Given the description of an element on the screen output the (x, y) to click on. 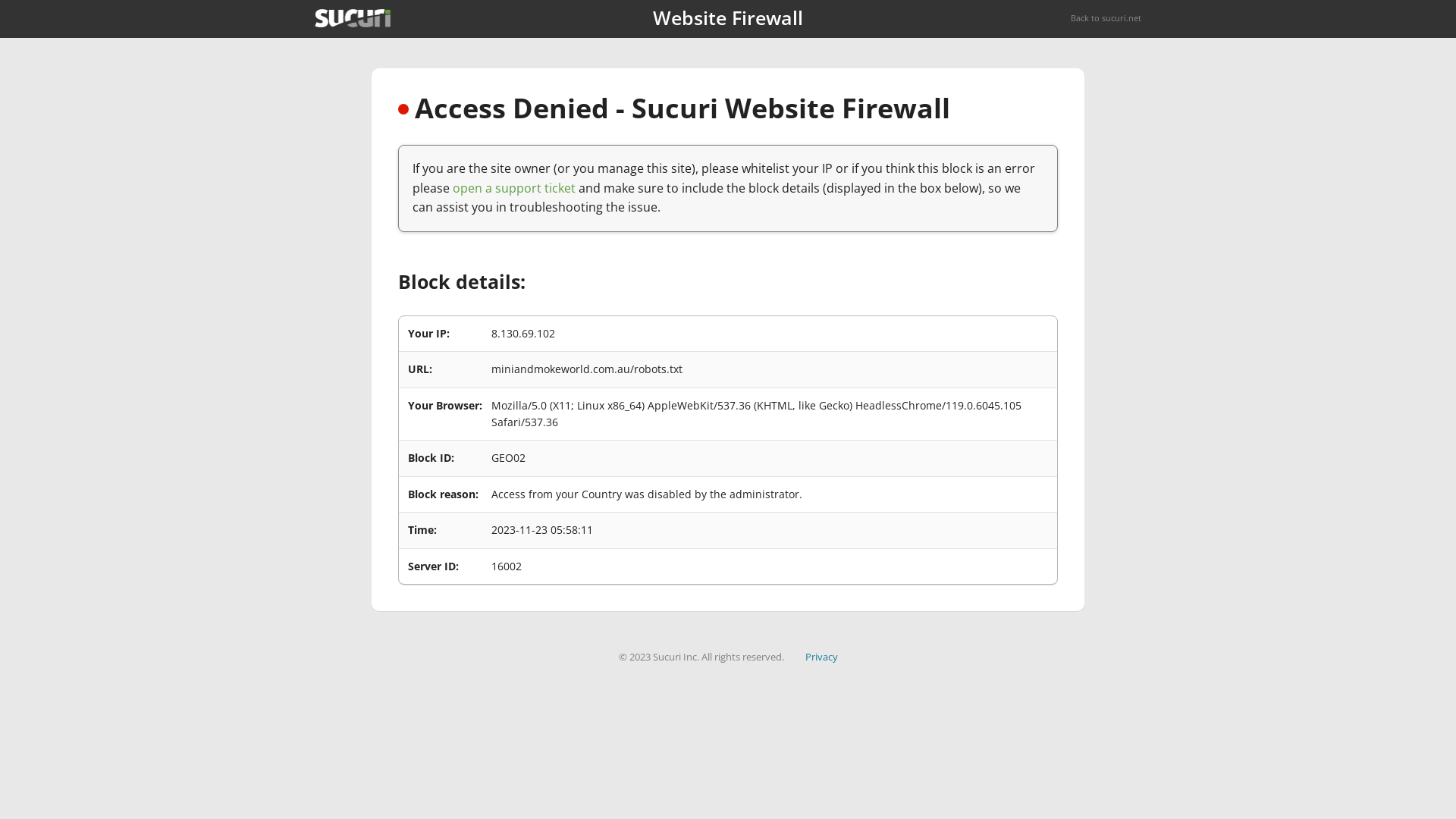
Back to sucuri.net Element type: text (1105, 18)
open a support ticket Element type: text (513, 187)
Privacy Element type: text (821, 656)
